Given the description of an element on the screen output the (x, y) to click on. 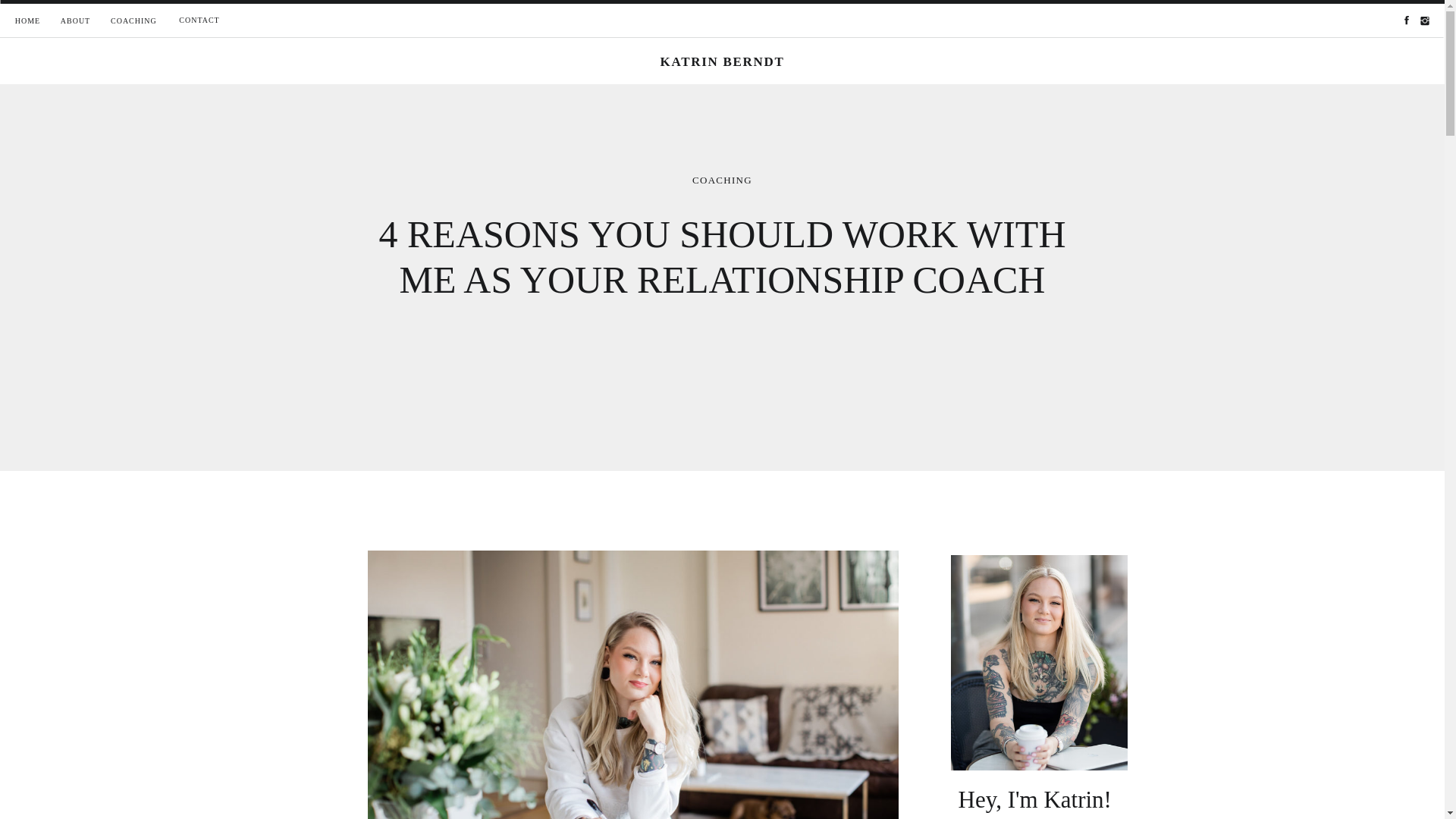
KATRIN BERNDT (722, 62)
COACHING (132, 20)
HOME (27, 20)
COACHING (722, 179)
CONTACT (199, 20)
ABOUT (74, 20)
